Given the description of an element on the screen output the (x, y) to click on. 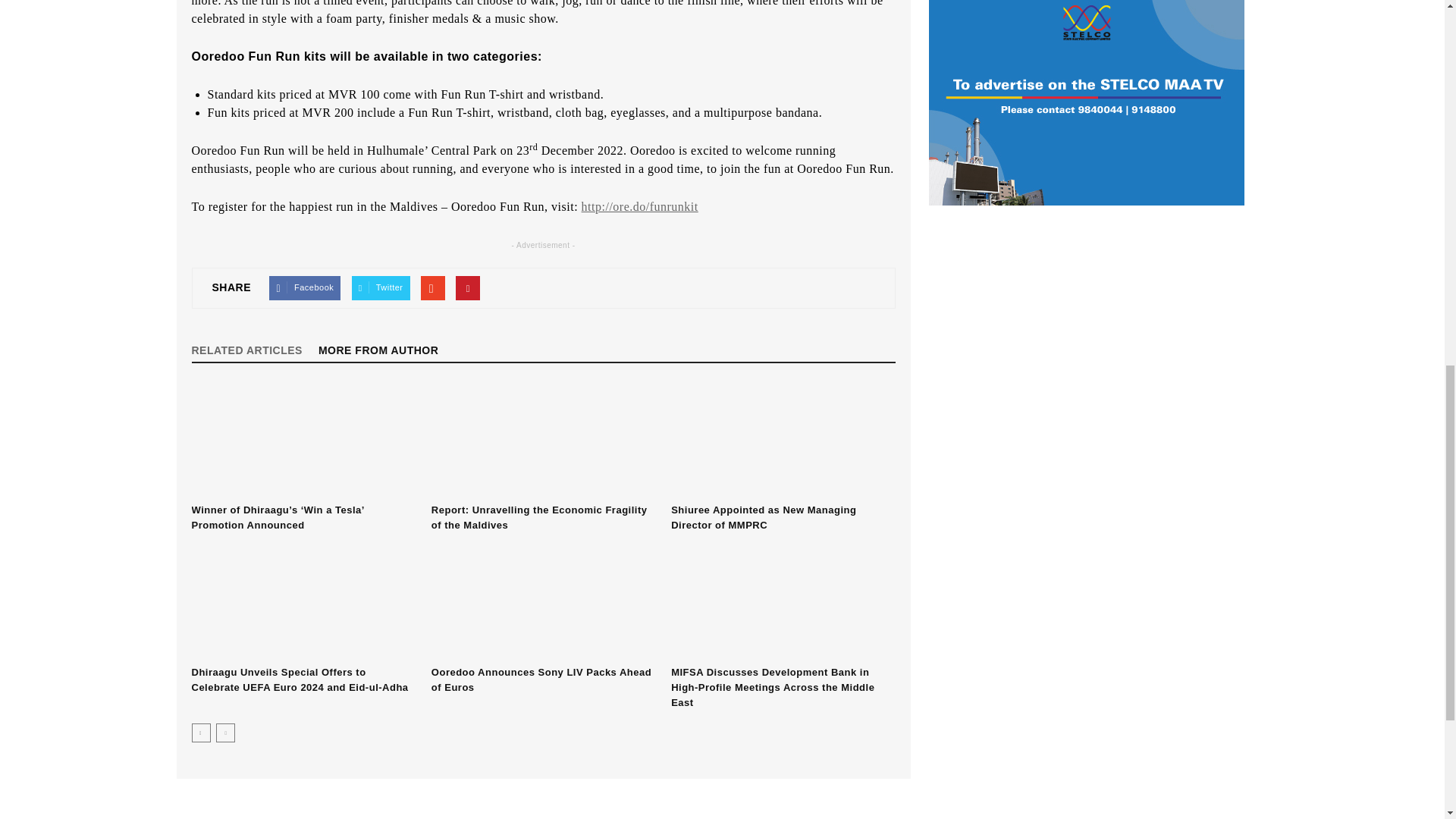
Facebook (304, 288)
Report: Unravelling the Economic Fragility of the Maldives (538, 517)
Shiuree Appointed as New Managing Director of MMPRC (763, 517)
Twitter (381, 288)
Shiuree Appointed as New Managing Director of MMPRC (783, 440)
Report: Unravelling the Economic Fragility of the Maldives (542, 440)
Ooredoo Announces Sony LIV Packs Ahead of Euros (542, 603)
